Given the description of an element on the screen output the (x, y) to click on. 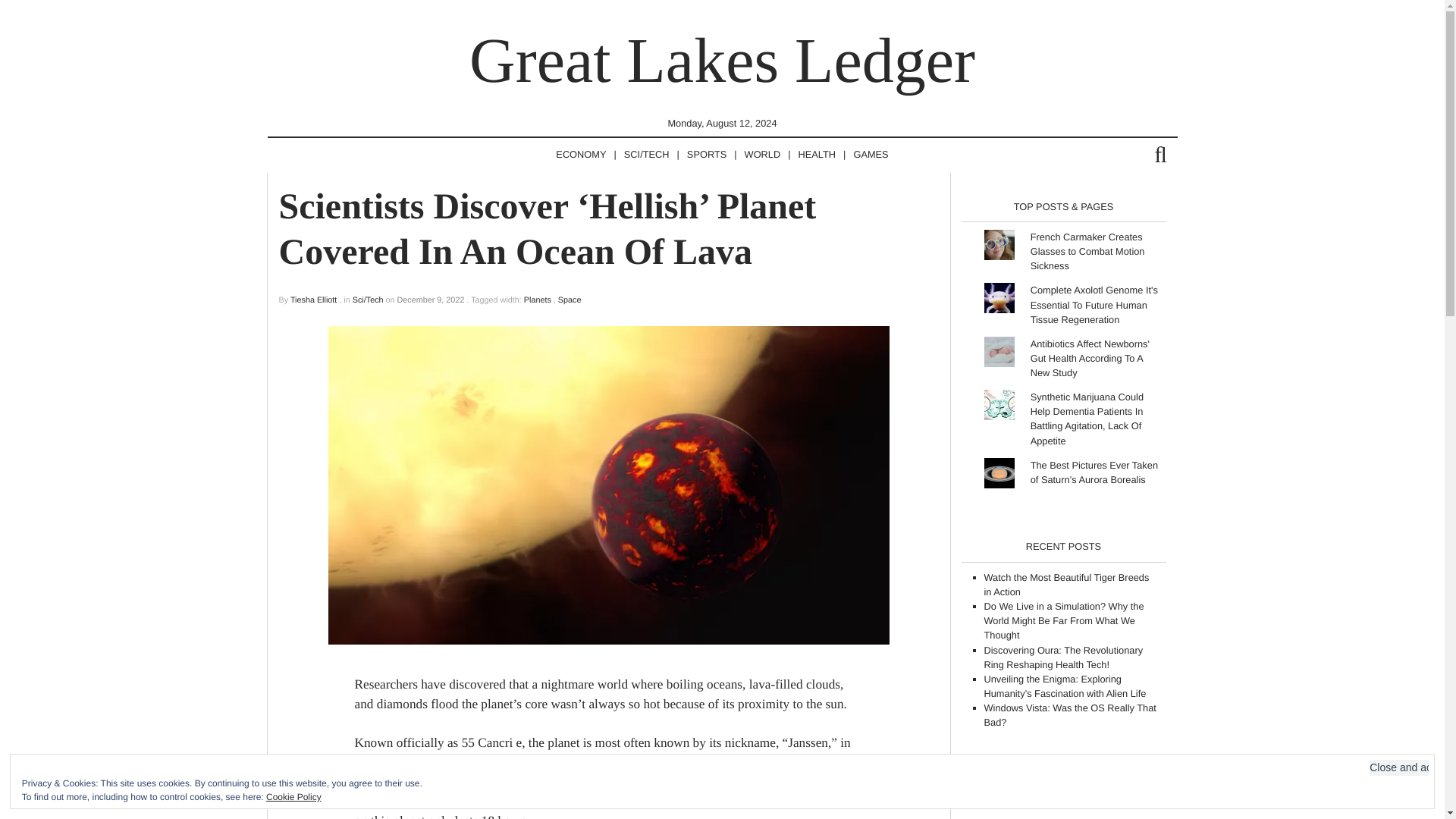
Tiesha Elliott (312, 299)
ECONOMY (580, 154)
Great Lakes Ledger (721, 60)
WORLD (762, 154)
French Carmaker Creates Glasses to Combat Motion Sickness (1087, 250)
SPORTS (706, 154)
Close and accept (1398, 767)
GAMES (870, 154)
French Carmaker Creates Glasses to Combat Motion Sickness (1087, 250)
Posts by Tiesha Elliott (312, 299)
